Given the description of an element on the screen output the (x, y) to click on. 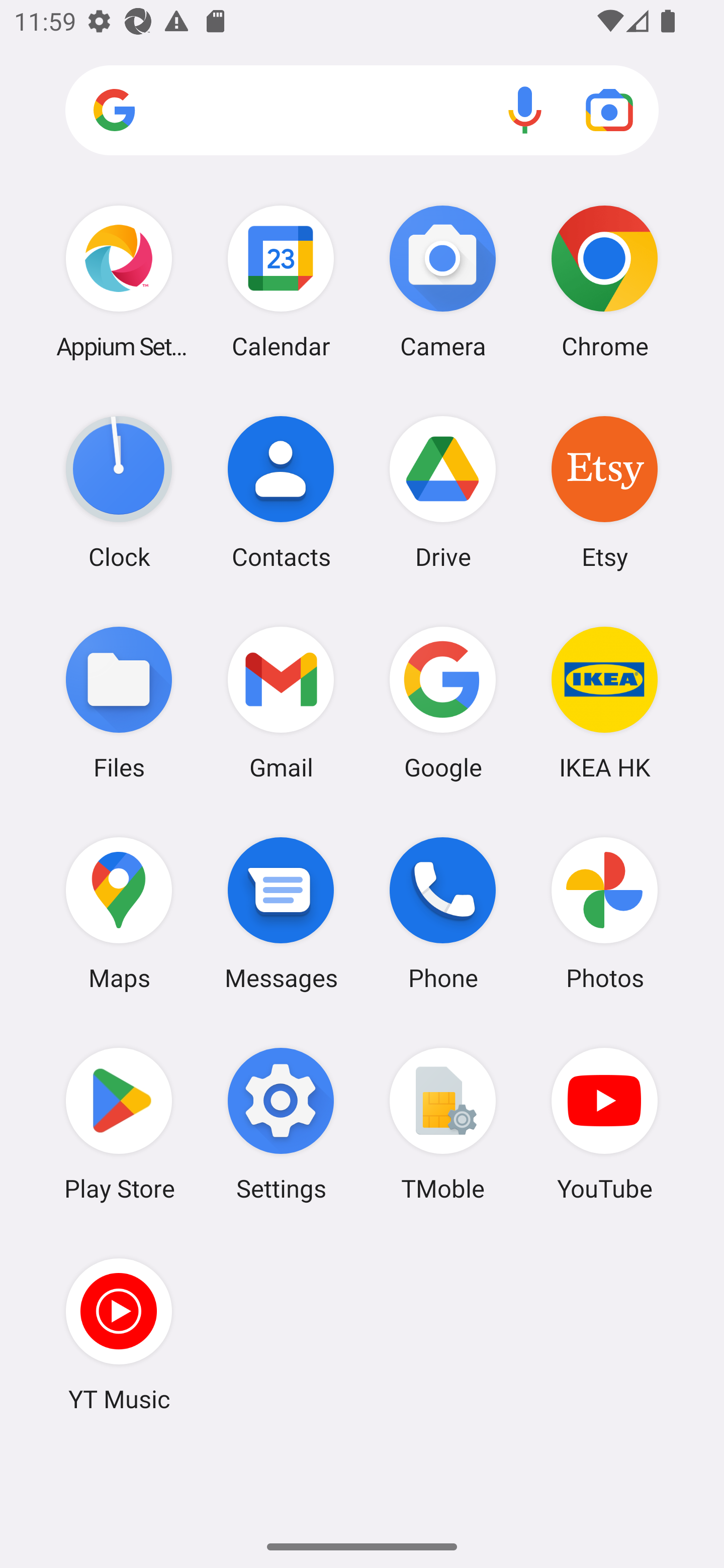
Search apps, web and more (361, 110)
Voice search (524, 109)
Google Lens (608, 109)
Appium Settings (118, 281)
Calendar (280, 281)
Camera (443, 281)
Chrome (604, 281)
Clock (118, 492)
Contacts (280, 492)
Drive (443, 492)
Etsy (604, 492)
Files (118, 702)
Gmail (280, 702)
Google (443, 702)
IKEA HK (604, 702)
Maps (118, 913)
Messages (280, 913)
Phone (443, 913)
Photos (604, 913)
Play Store (118, 1124)
Settings (280, 1124)
TMoble (443, 1124)
YouTube (604, 1124)
YT Music (118, 1334)
